Given the description of an element on the screen output the (x, y) to click on. 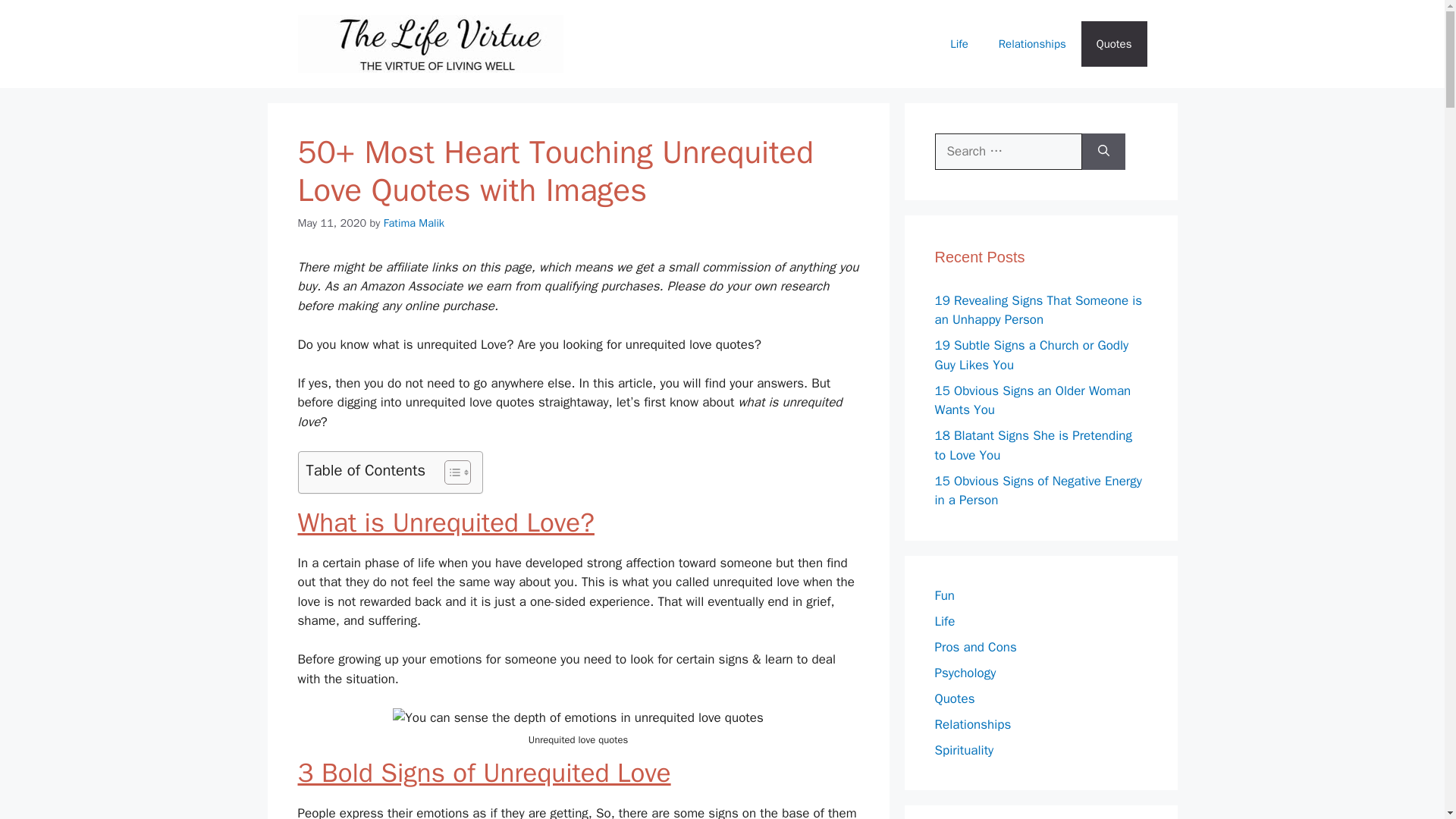
19 Revealing Signs That Someone is an Unhappy Person (1037, 310)
Relationships (1032, 43)
Fatima Malik (414, 223)
15 Obvious Signs an Older Woman Wants You (1032, 399)
Quotes (1114, 43)
View all posts by Fatima Malik (414, 223)
Search for: (1007, 151)
19 Subtle Signs a Church or Godly Guy Likes You (1031, 355)
Life (959, 43)
